Given the description of an element on the screen output the (x, y) to click on. 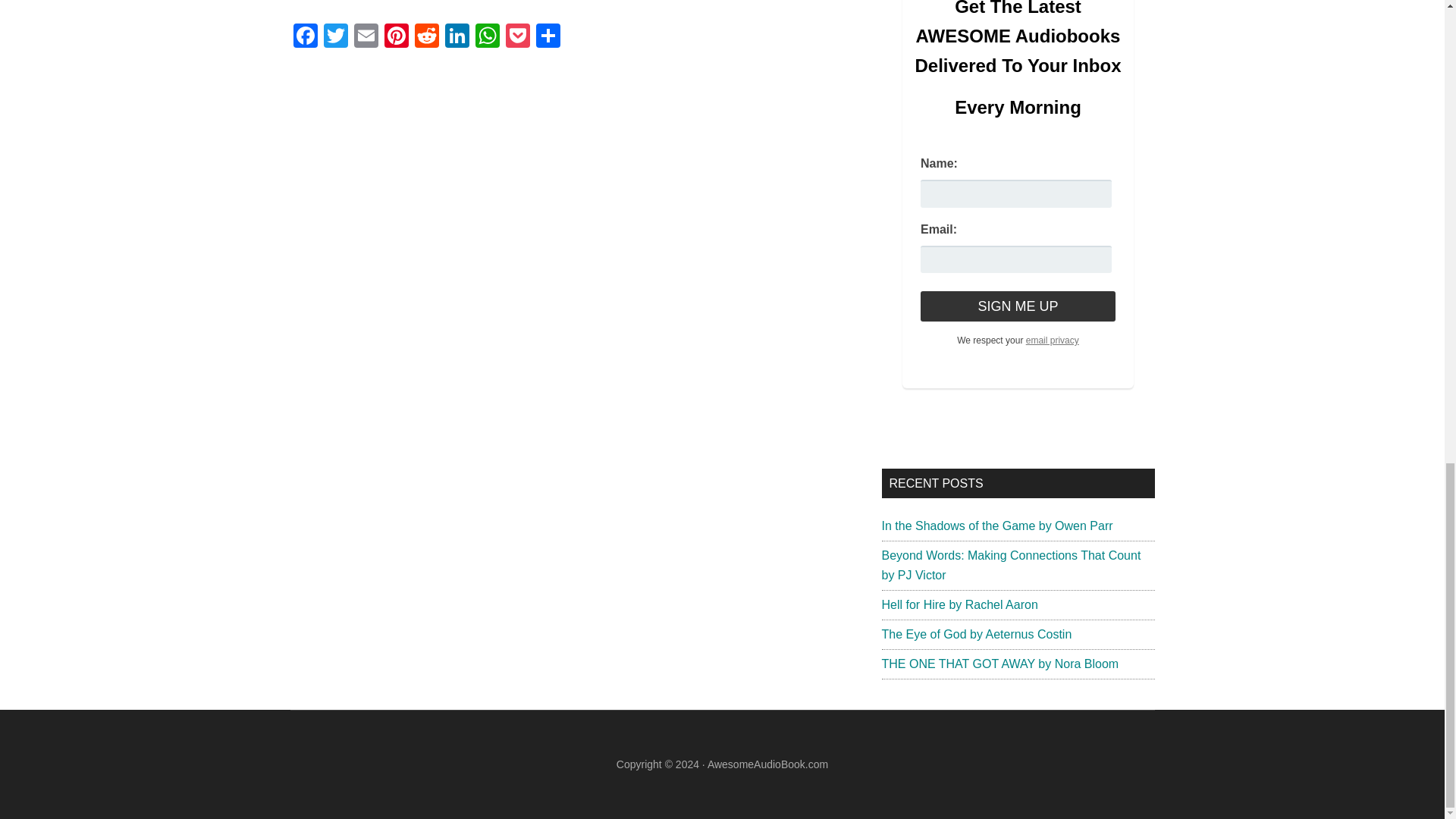
Privacy Policy (1052, 339)
Facebook (304, 37)
Pinterest (395, 37)
LinkedIn (456, 37)
Facebook (304, 37)
WhatsApp (486, 37)
Reddit (425, 37)
Twitter (335, 37)
Pocket (517, 37)
WhatsApp (486, 37)
